Given the description of an element on the screen output the (x, y) to click on. 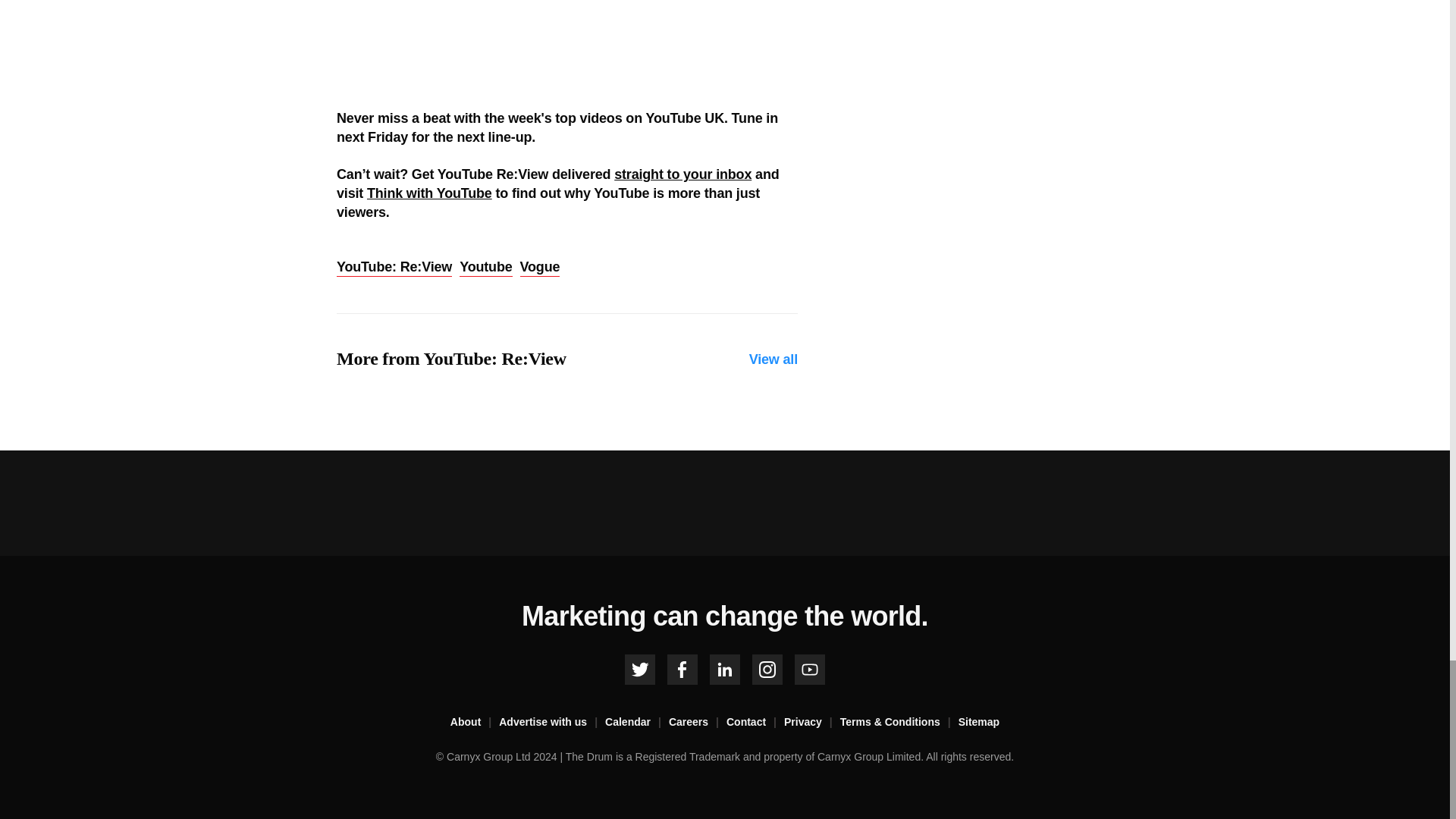
Think with YouTube (429, 192)
About (474, 722)
YouTube: Re:View (393, 267)
Vogue (539, 267)
Advertise with us (552, 722)
Youtube (486, 267)
straight to your inbox (682, 174)
View all (773, 359)
